Given the description of an element on the screen output the (x, y) to click on. 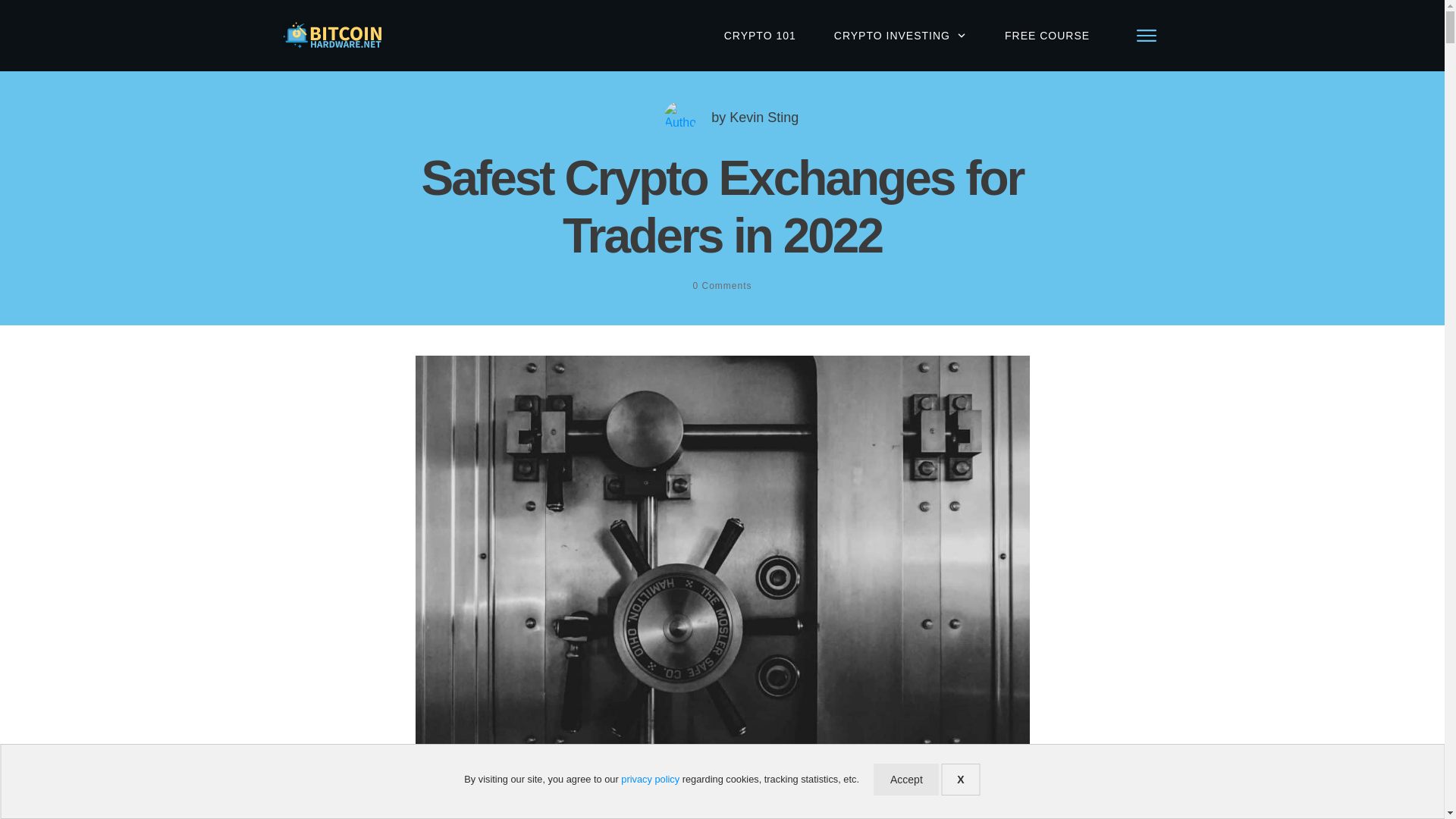
Accept (907, 779)
TWEET (945, 793)
Kevin Sting (763, 117)
CRYPTO 101 (759, 35)
CRYPTO INVESTING (900, 35)
Crypto Investing (573, 794)
SHARE (882, 793)
FREE COURSE (1046, 35)
privacy policy (650, 778)
PIN (1004, 793)
X (959, 779)
Crypto Investing (573, 794)
